Given the description of an element on the screen output the (x, y) to click on. 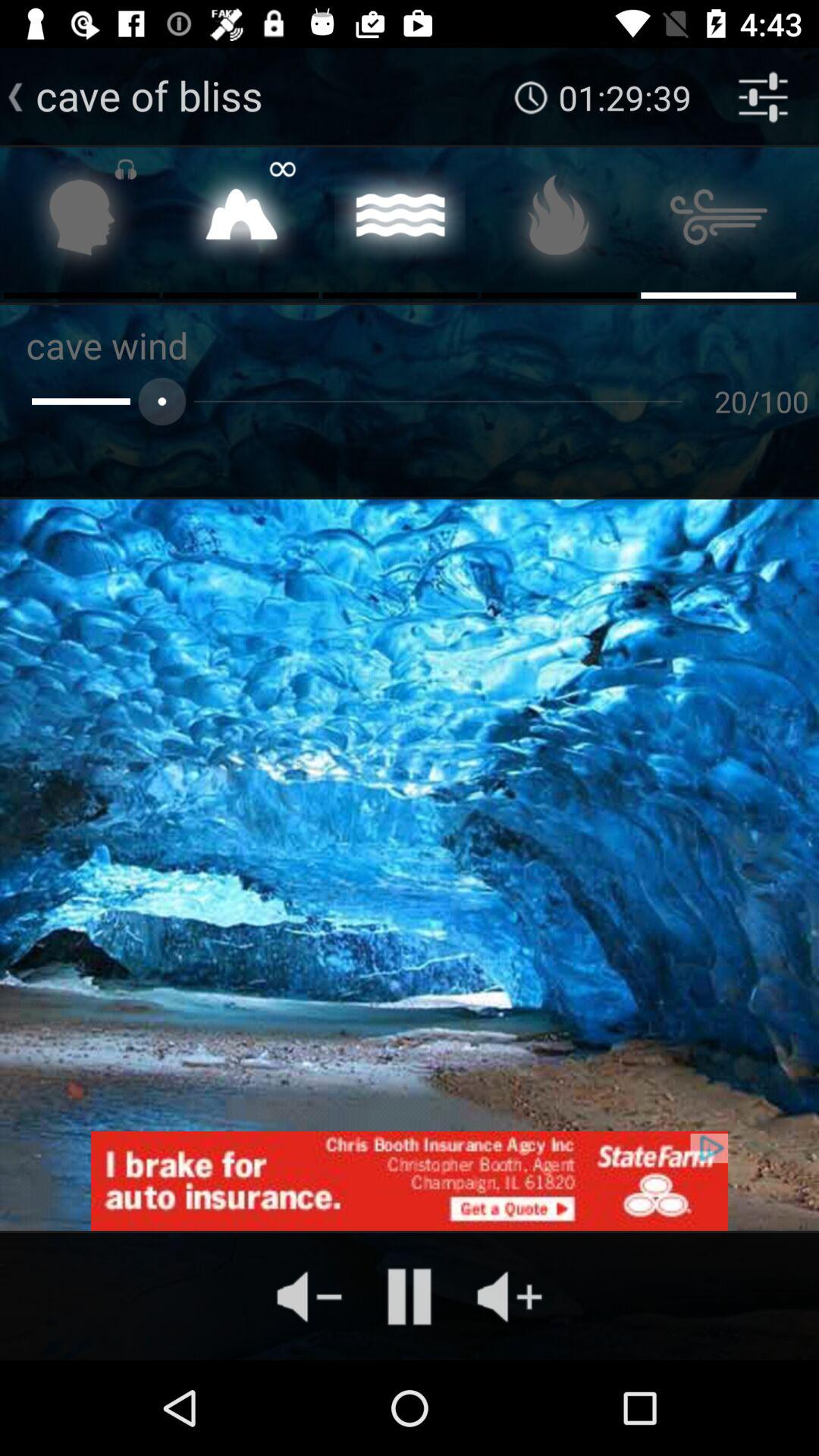
menu (718, 221)
